Given the description of an element on the screen output the (x, y) to click on. 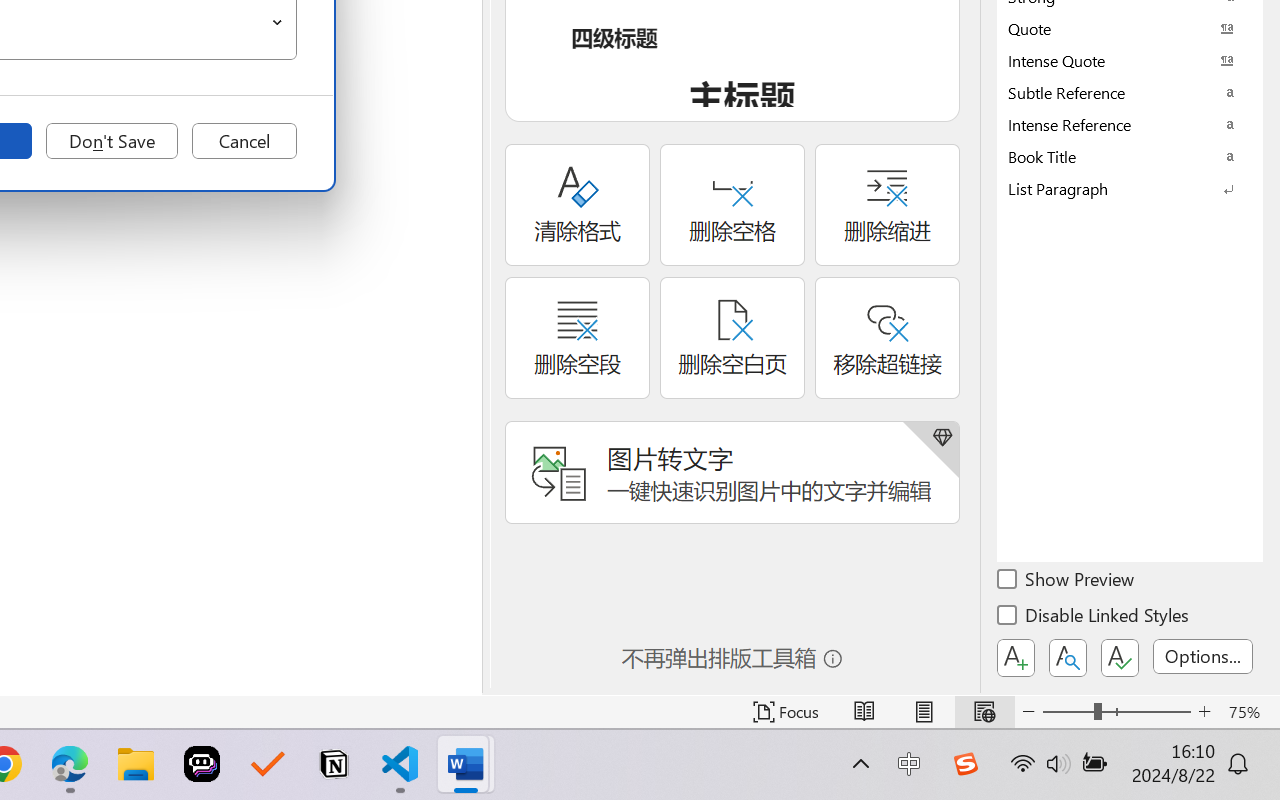
Don't Save (111, 141)
Subtle Reference (1130, 92)
Zoom Out (1067, 712)
Notion (333, 764)
Print Layout (924, 712)
Disable Linked Styles (1094, 618)
